Given the description of an element on the screen output the (x, y) to click on. 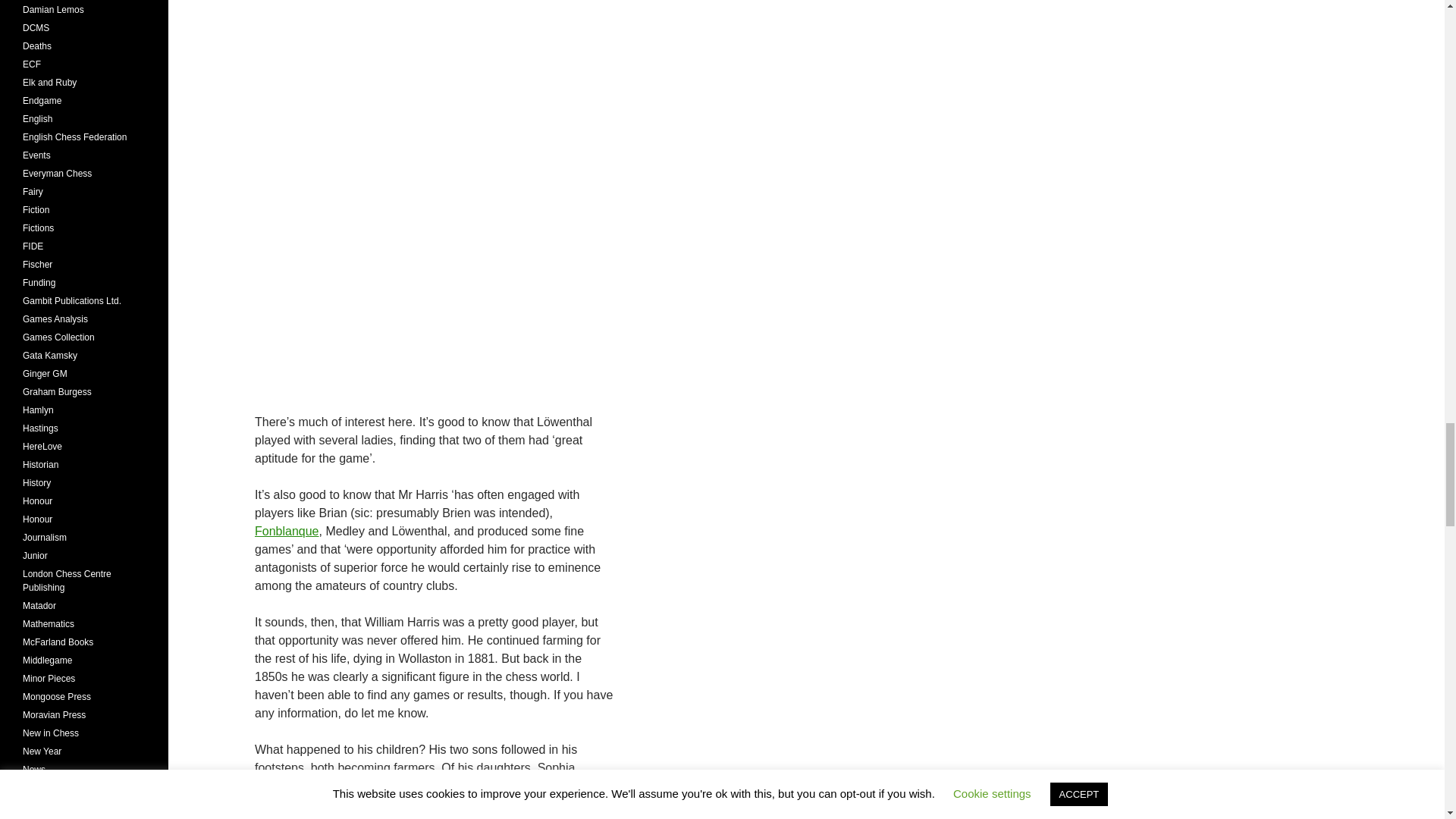
Fonblanque (286, 530)
